Given the description of an element on the screen output the (x, y) to click on. 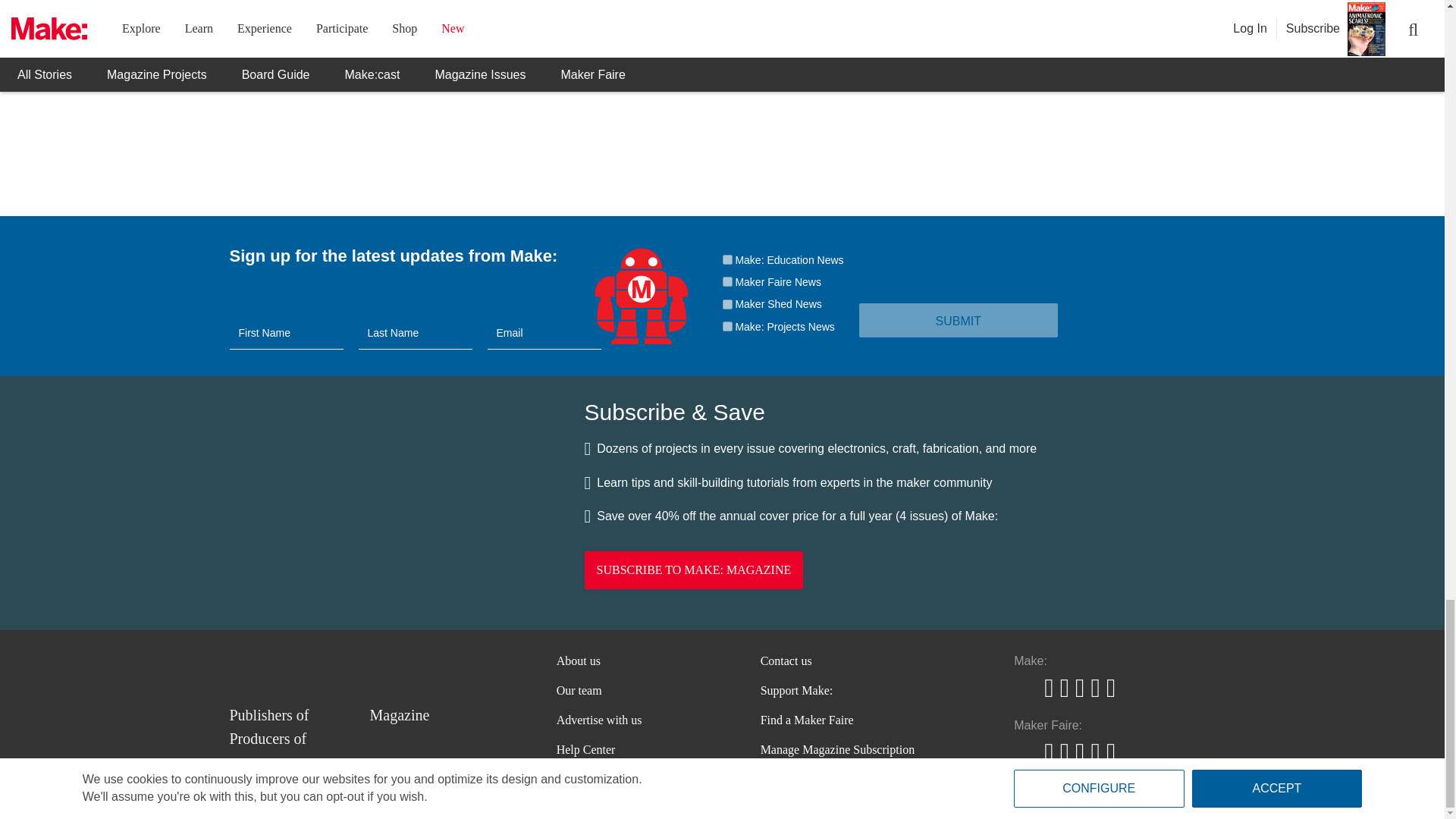
Maker Faire News (727, 281)
Maker Shed News (727, 304)
Make: Projects News (727, 326)
Make: Education News (727, 259)
